Given the description of an element on the screen output the (x, y) to click on. 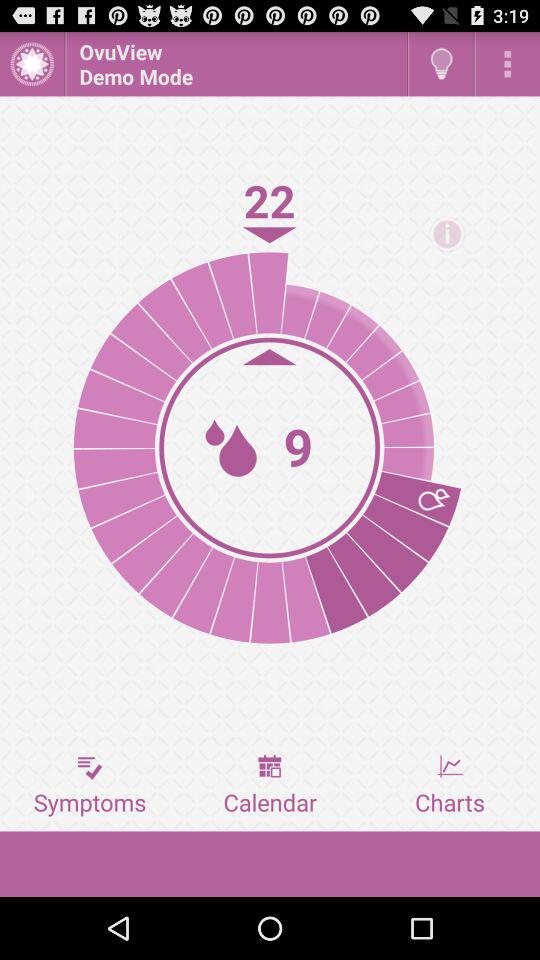
choose button next to charts (270, 785)
